Given the description of an element on the screen output the (x, y) to click on. 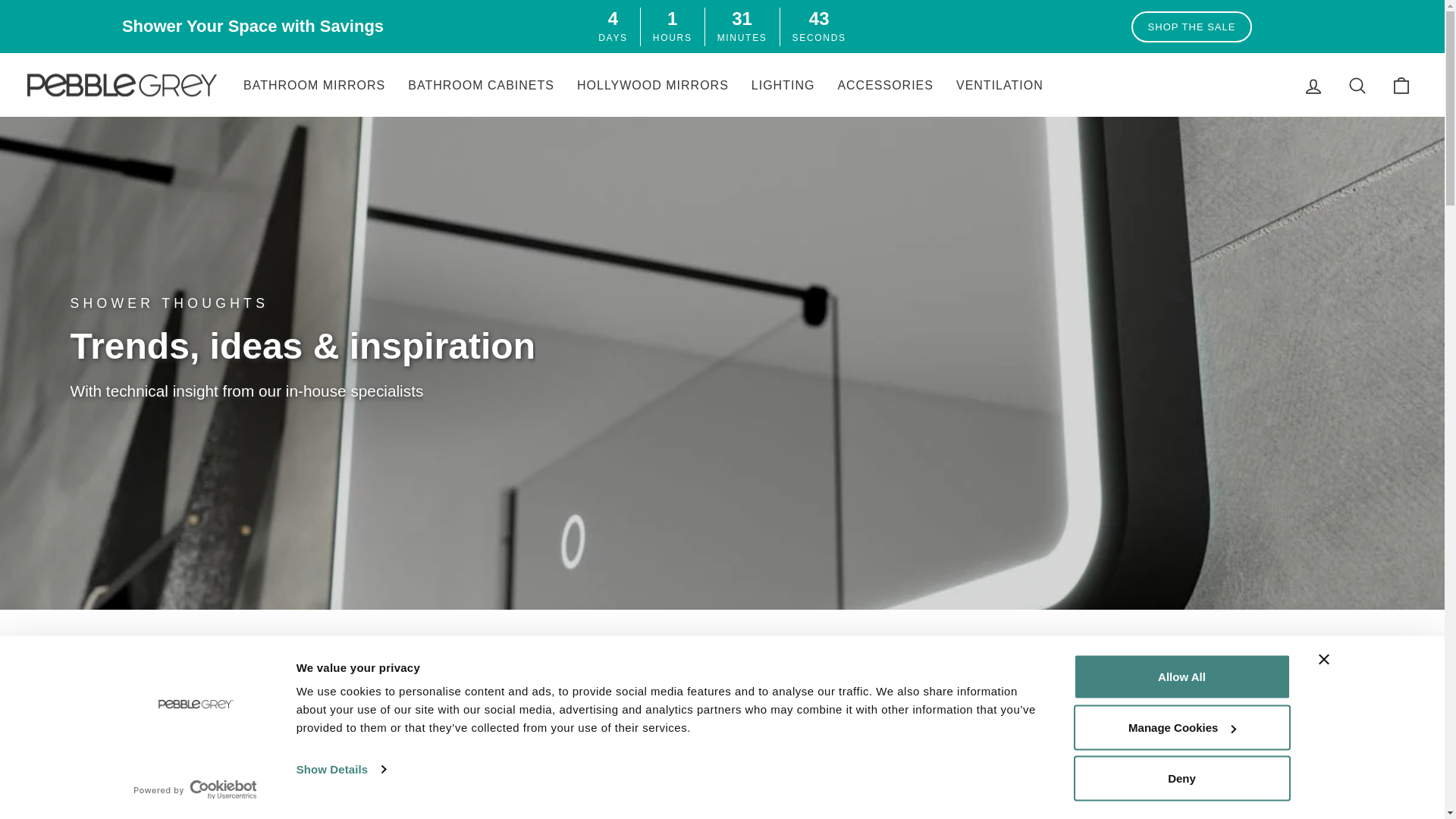
Show Details (341, 769)
